Given the description of an element on the screen output the (x, y) to click on. 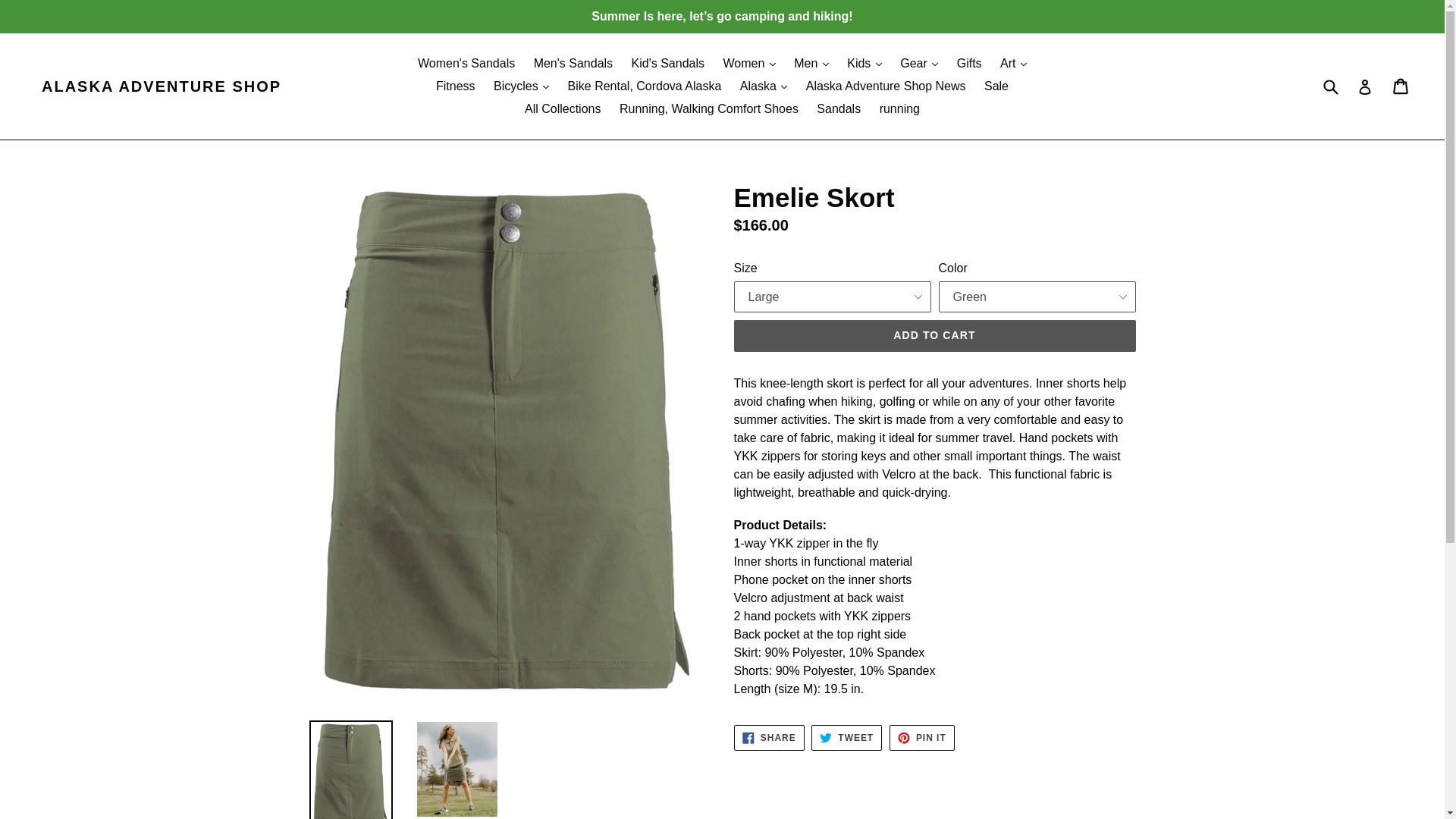
Share on Facebook (769, 737)
Tweet on Twitter (846, 737)
Pin on Pinterest (922, 737)
